Given the description of an element on the screen output the (x, y) to click on. 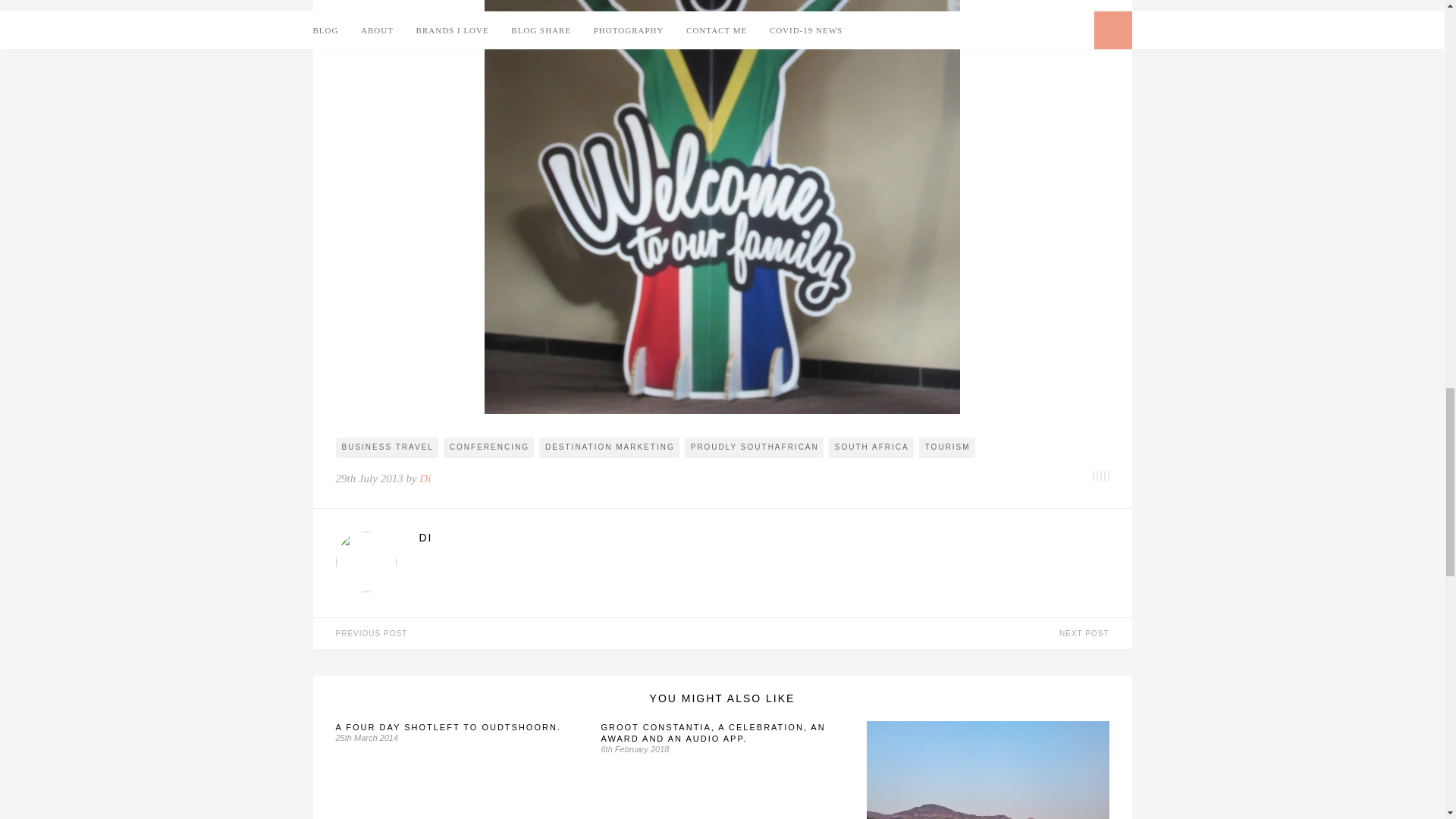
SOUTH AFRICA (871, 447)
CONFERENCING (489, 447)
DESTINATION MARKETING (608, 447)
Posts by Di (763, 537)
TOURISM (946, 447)
NEXT POST (926, 633)
Posts by Di (424, 478)
BUSINESS TRAVEL (386, 447)
Di (424, 478)
PROUDLY SOUTHAFRICAN (754, 447)
PREVIOUS POST (517, 633)
DI (763, 537)
